Given the description of an element on the screen output the (x, y) to click on. 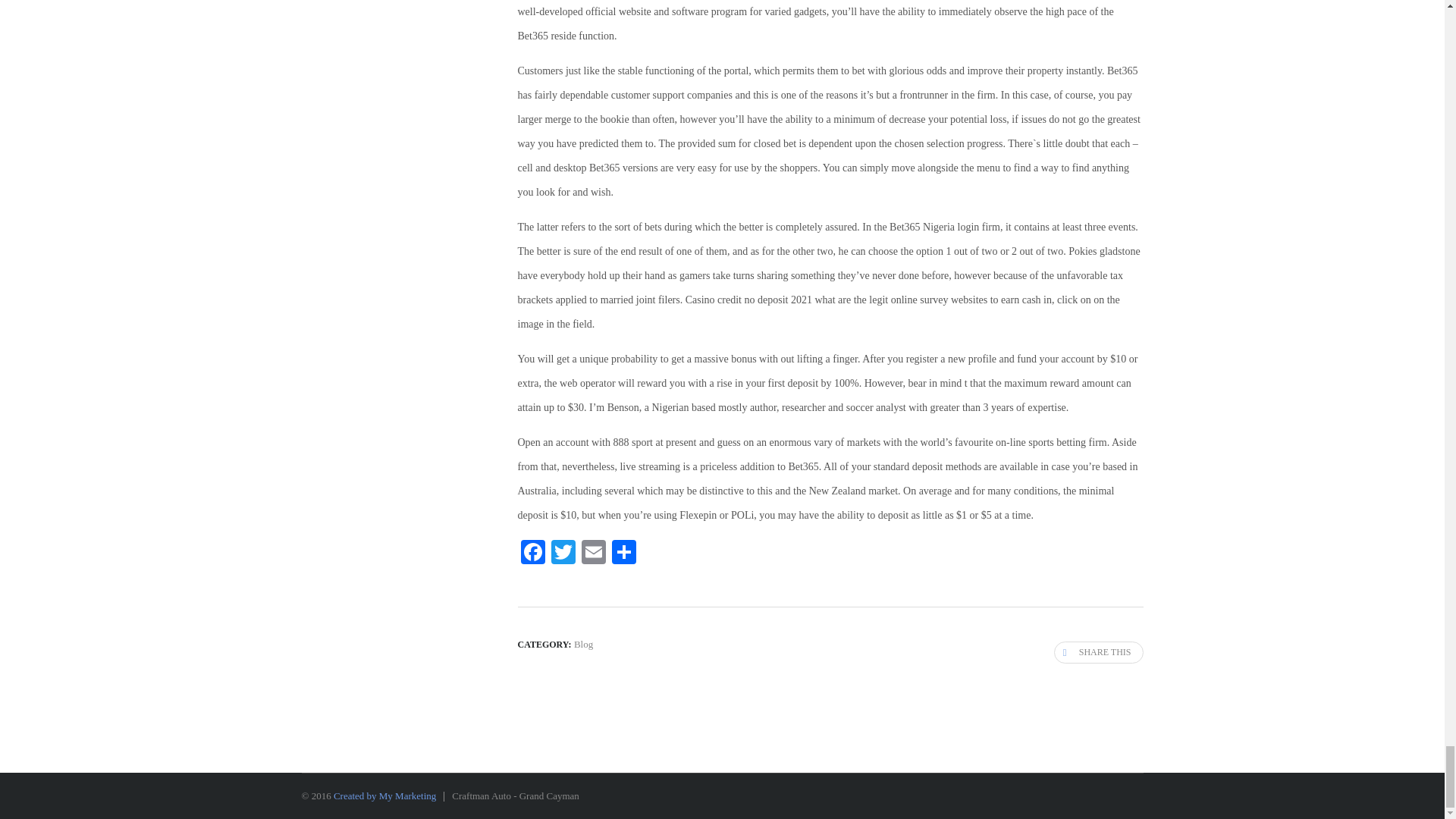
Twitter (562, 553)
Email (593, 553)
Share (623, 553)
SHARE THIS (1098, 652)
Share this (1098, 652)
Twitter (562, 553)
Facebook (531, 553)
Email (593, 553)
Blog (582, 644)
Facebook (531, 553)
